Given the description of an element on the screen output the (x, y) to click on. 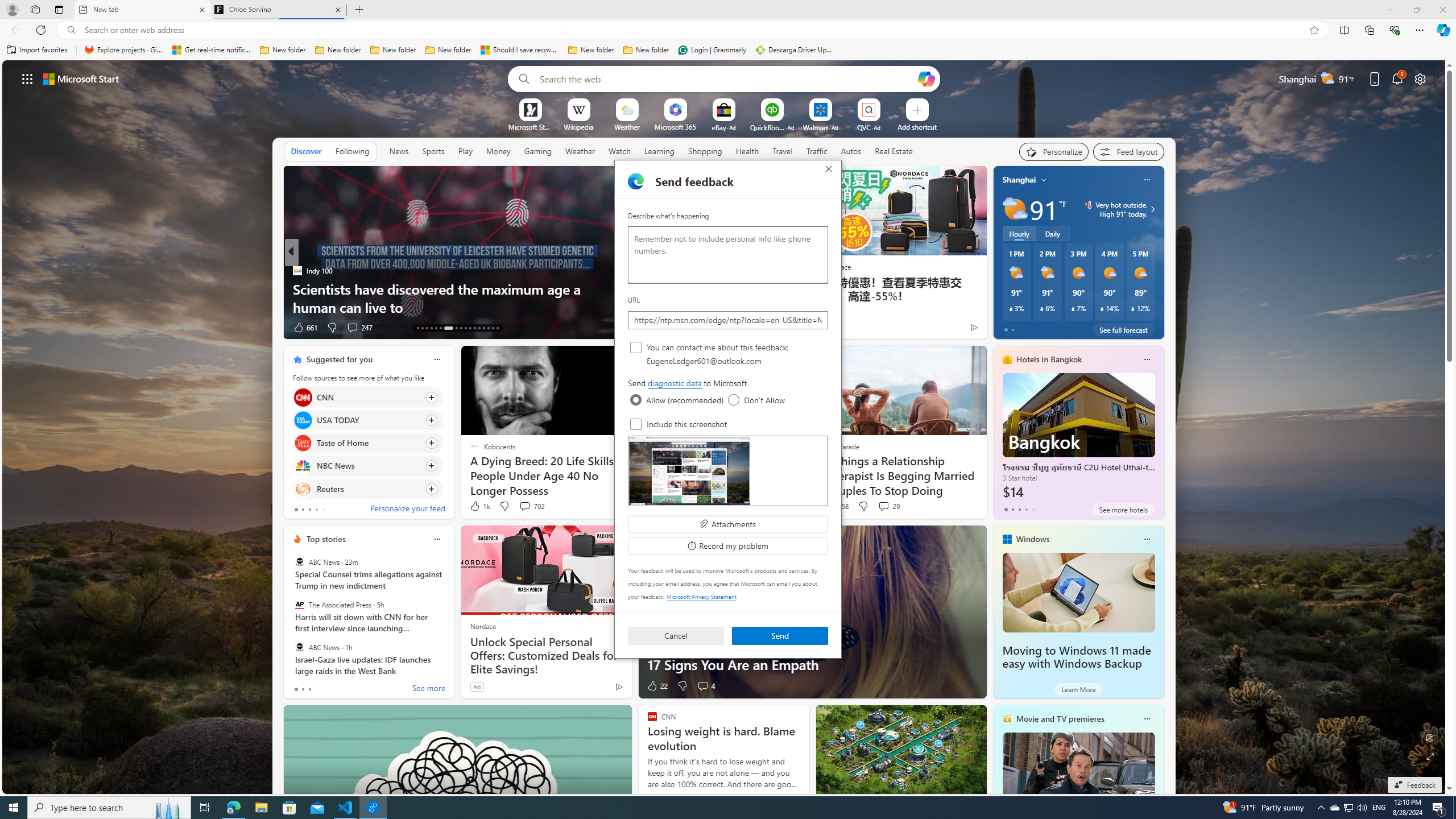
Expand background (1430, 756)
AutomationID: tab-15 (426, 328)
Record my problem (727, 545)
Attachments (727, 523)
Click to follow source USA TODAY (367, 419)
Class: weather-arrow-glyph (1152, 208)
Microsoft start (81, 78)
Favorites bar (728, 49)
Health (746, 151)
